Given the description of an element on the screen output the (x, y) to click on. 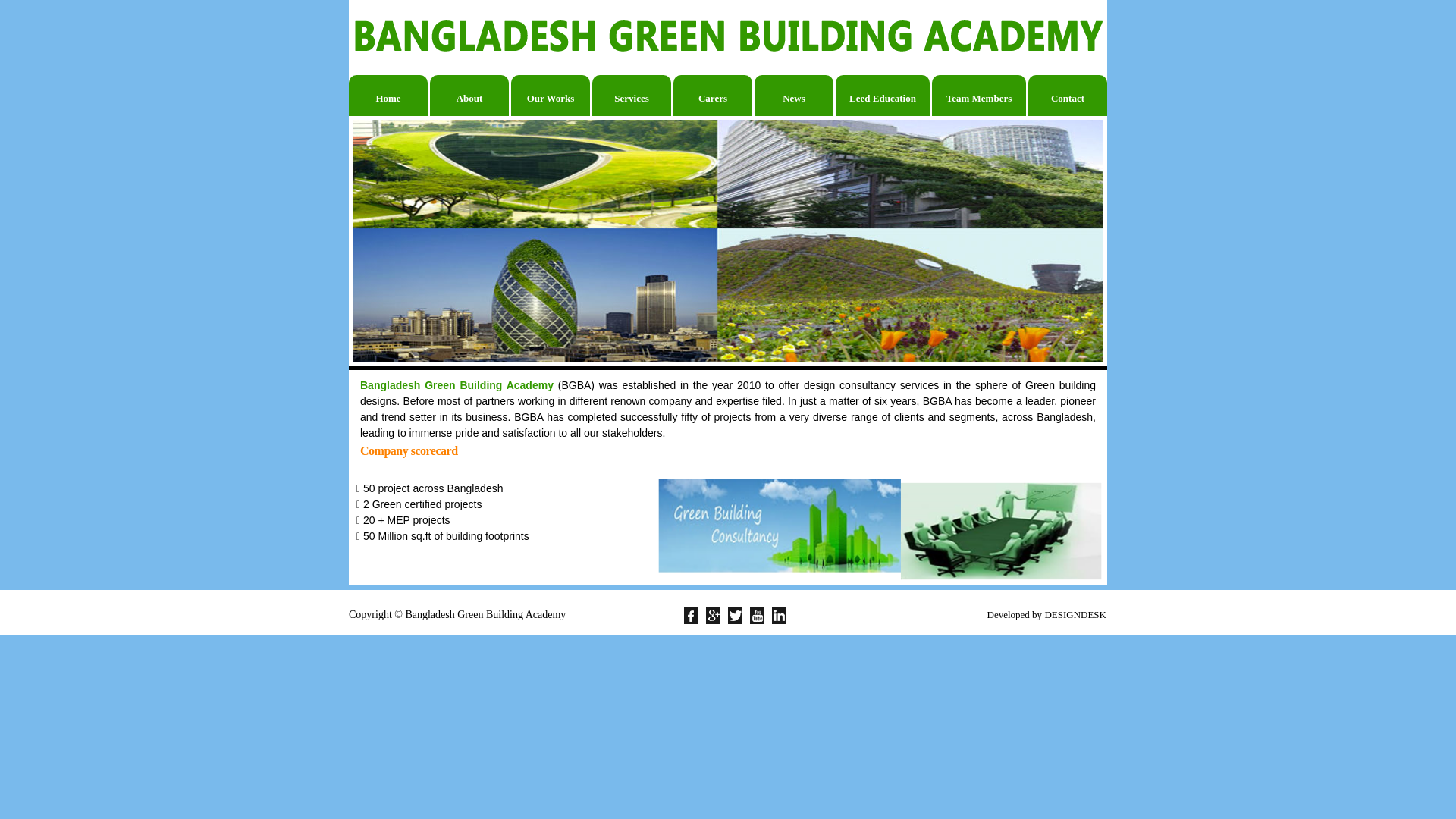
Carers Element type: text (712, 95)
About Element type: text (468, 95)
Team Members Element type: text (978, 95)
Contact Element type: text (1067, 95)
News Element type: text (793, 95)
Services Element type: text (631, 95)
Leed Education Element type: text (882, 95)
DESIGNDESK Element type: text (1075, 614)
Home Element type: text (387, 95)
Our Works Element type: text (550, 95)
